Given the description of an element on the screen output the (x, y) to click on. 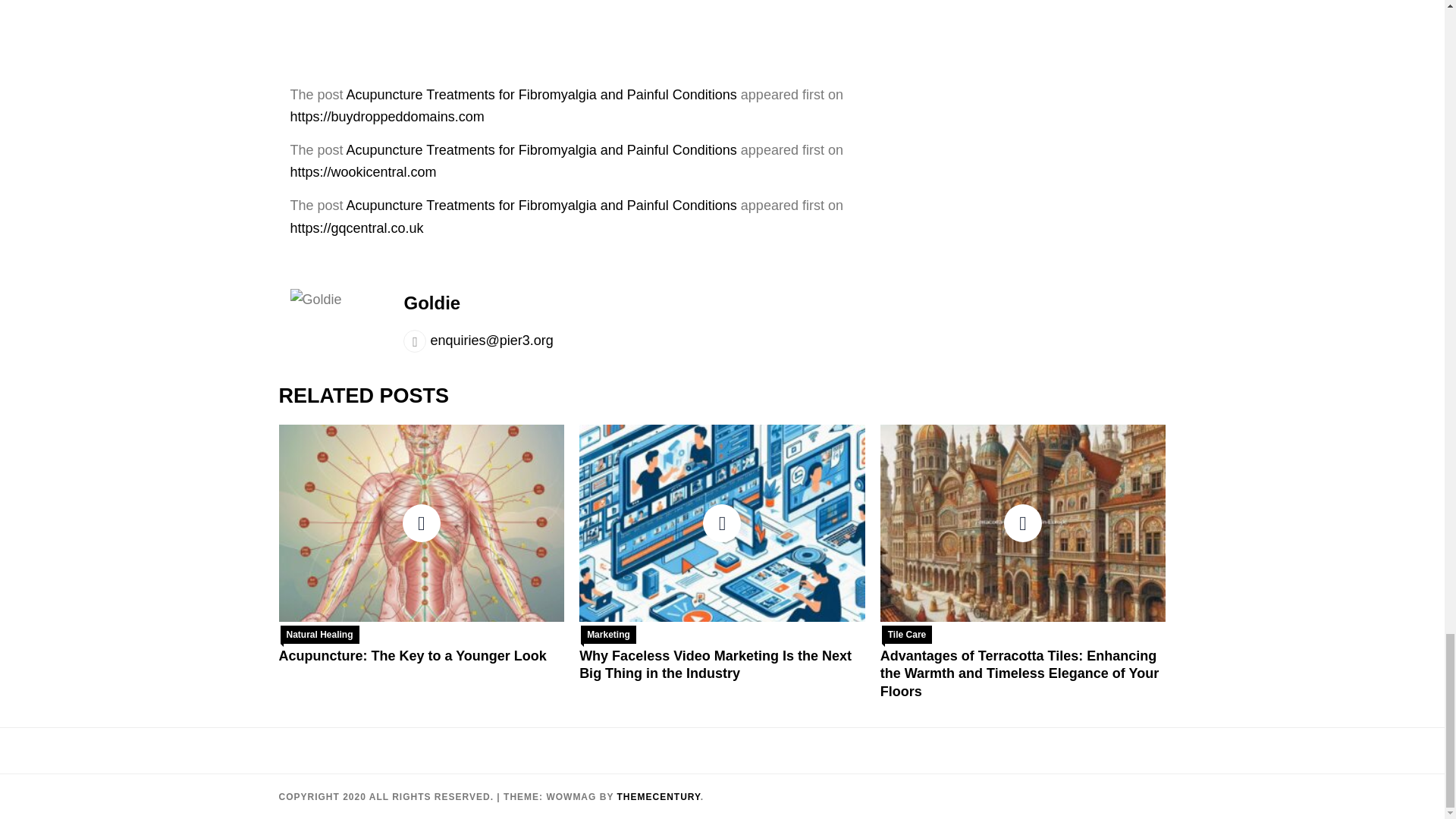
Goldie (431, 302)
